Given the description of an element on the screen output the (x, y) to click on. 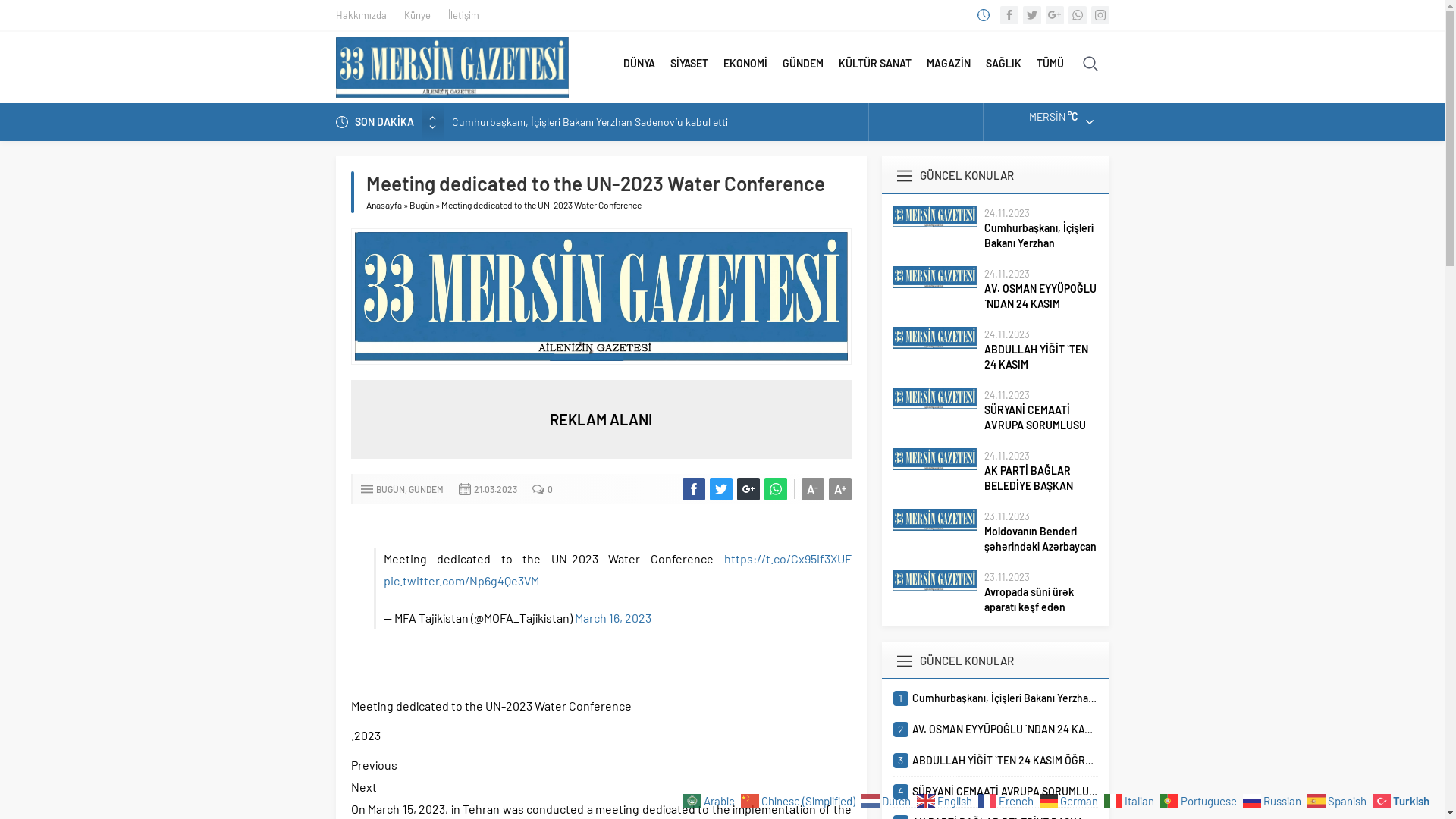
Twitter Element type: hover (1031, 15)
Italian Element type: text (1130, 799)
0 Element type: text (549, 488)
Instagram Element type: hover (1099, 15)
March 16, 2023 Element type: text (612, 617)
Portuguese Element type: text (1200, 799)
Russian Element type: text (1273, 799)
Dutch Element type: text (887, 799)
English Element type: text (945, 799)
French Element type: text (1007, 799)
33 Mersin Gazetesi - Anasayfa Element type: hover (451, 67)
German Element type: text (1070, 799)
Whatsapp Element type: hover (1076, 15)
Turkish Element type: text (1402, 799)
https://t.co/Cx95if3XUF Element type: text (786, 558)
Arabic Element type: text (710, 799)
pic.twitter.com/Np6g4Qe3VM Element type: text (461, 580)
Spanish Element type: text (1338, 799)
Anasayfa Element type: text (383, 204)
Chinese (Simplified) Element type: text (799, 799)
Google Element type: hover (1053, 15)
Facebook Element type: hover (1008, 15)
